Given the description of an element on the screen output the (x, y) to click on. 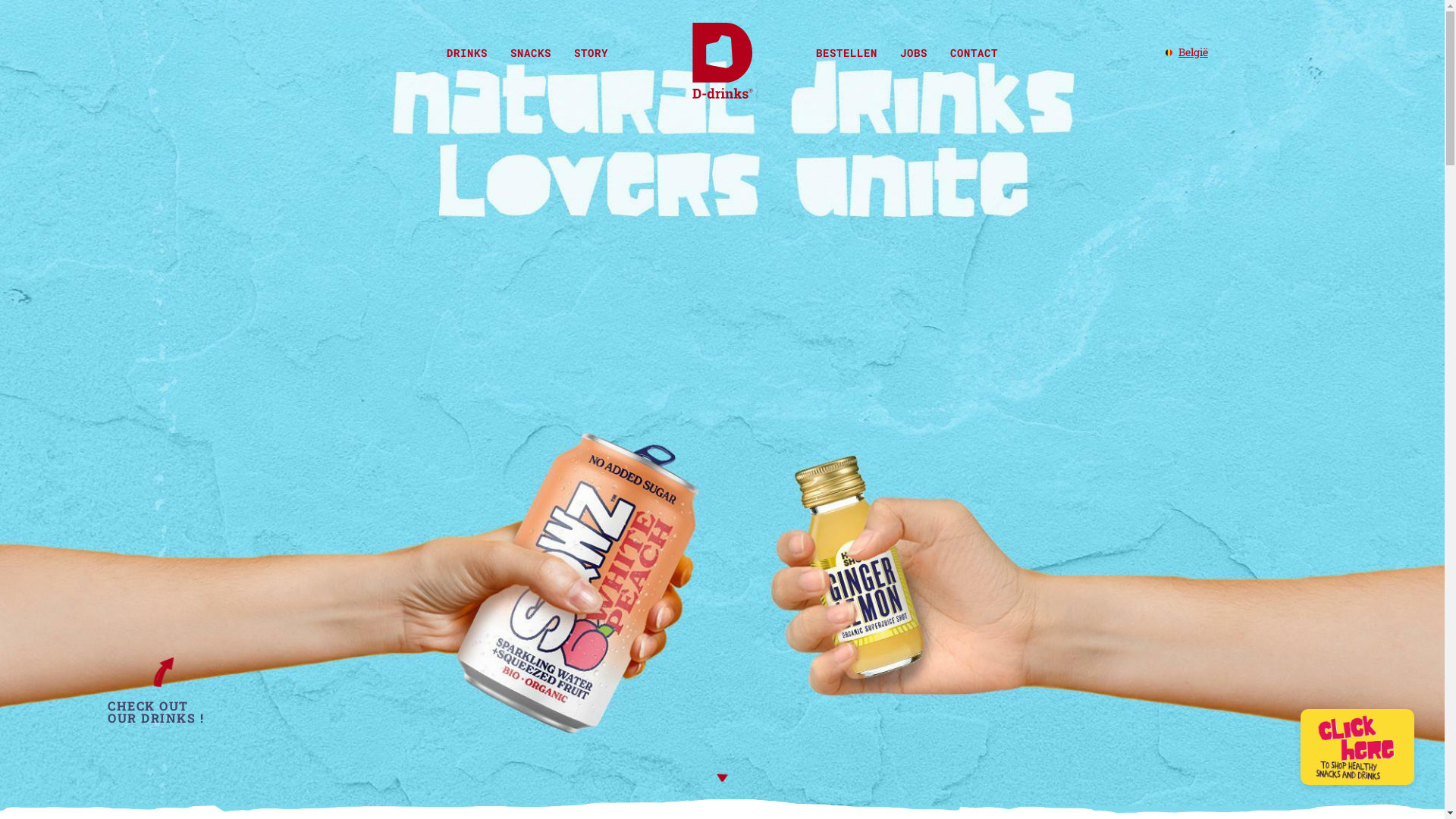
Naar beneden scrollen Element type: hover (722, 778)
JOBS Element type: text (913, 52)
SNACKS Element type: text (530, 52)
STORY Element type: text (590, 52)
CONTACT Element type: text (973, 52)
BESTELLEN Element type: text (846, 52)
CHECK OUT OUR DRINKS ! Element type: text (160, 711)
DRINKS Element type: text (466, 52)
D-drinks Element type: hover (721, 61)
